Given the description of an element on the screen output the (x, y) to click on. 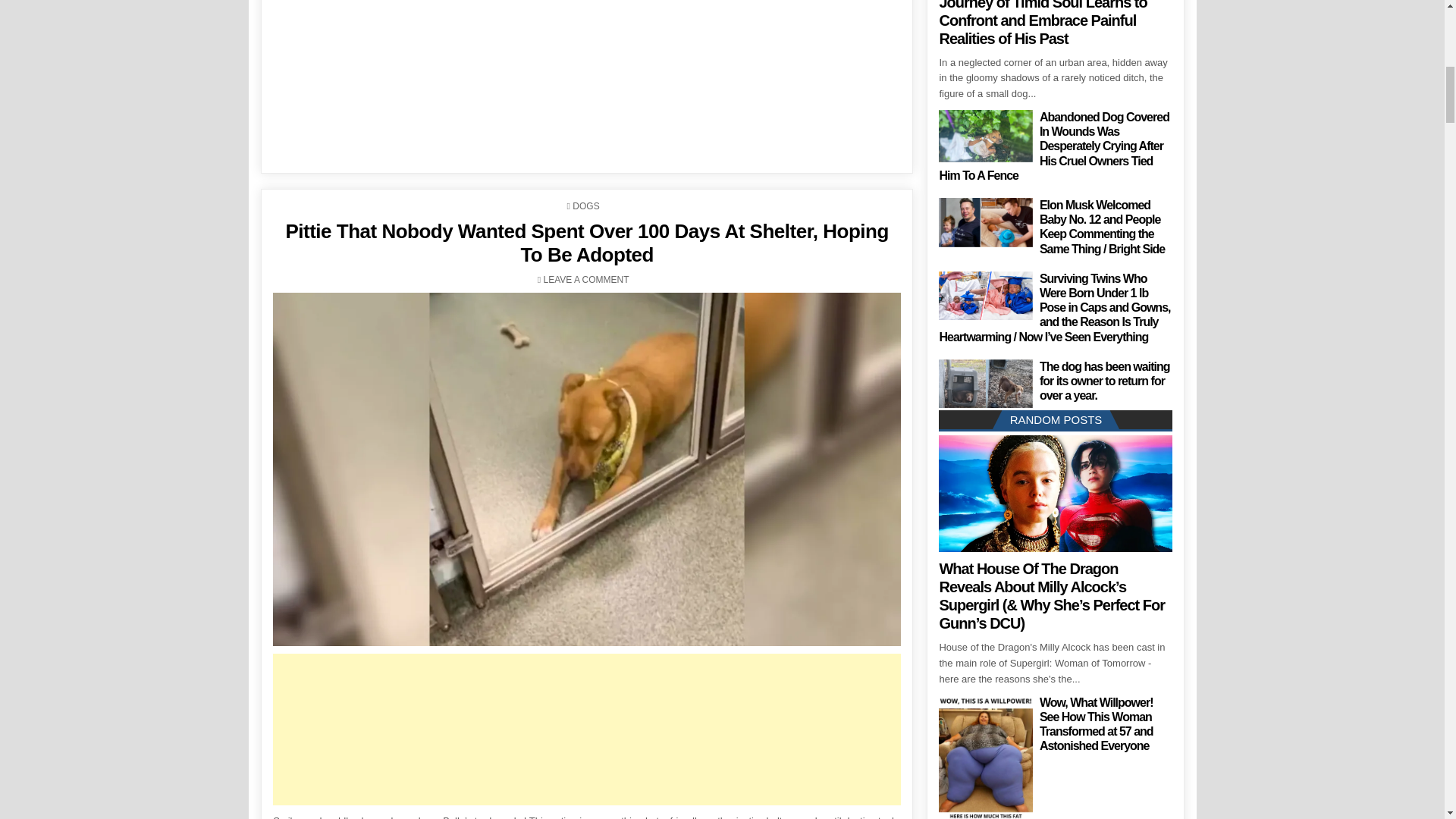
LEAVE A COMMENT (585, 279)
DOGS (585, 205)
